Given the description of an element on the screen output the (x, y) to click on. 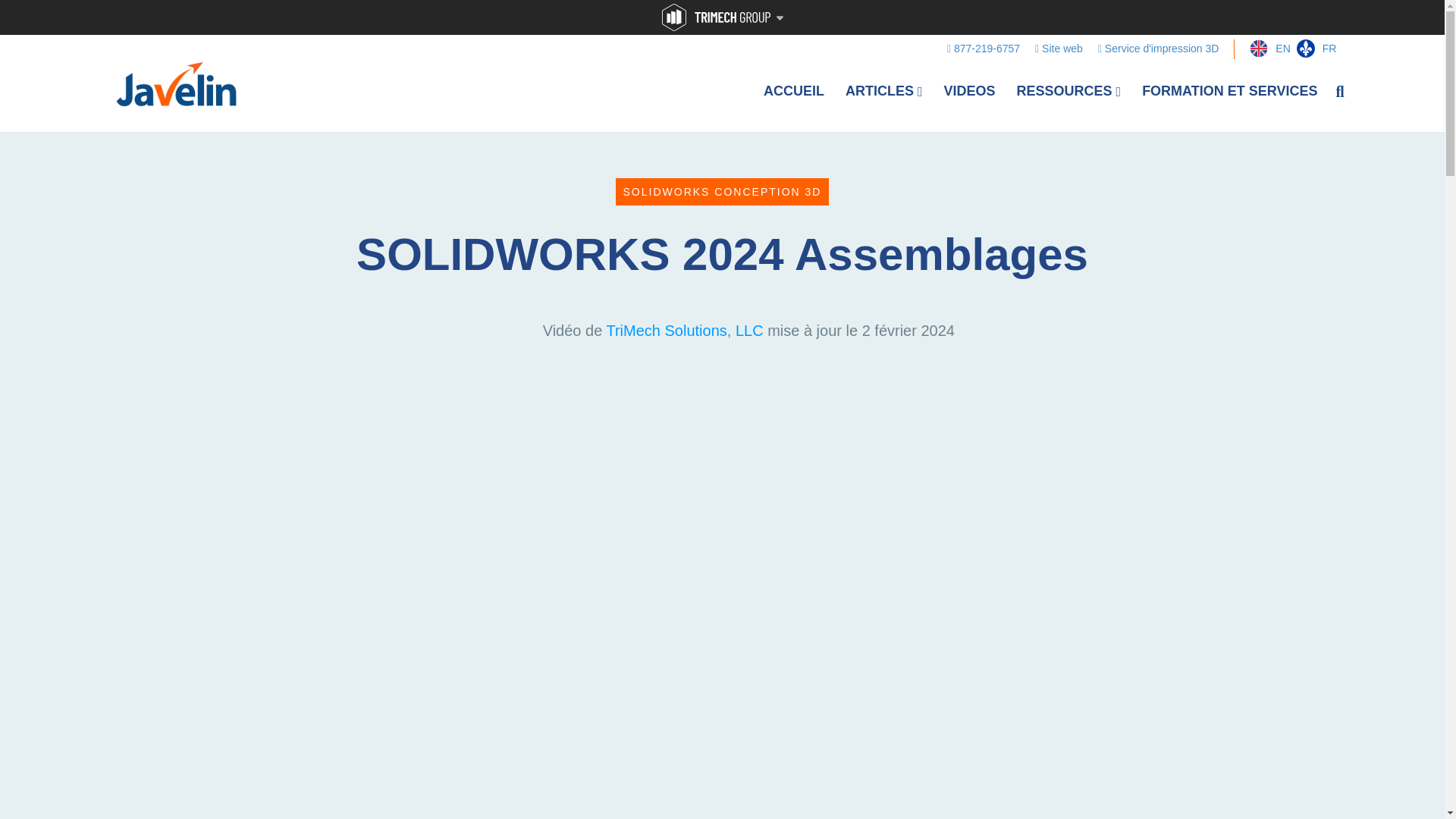
877-219-6757 (983, 48)
ARTICLES (883, 91)
English (1261, 48)
ACCUEIL (793, 91)
Service d'impression 3D (1158, 48)
Site web (1058, 48)
FR (1312, 48)
EN (1261, 48)
